Given the description of an element on the screen output the (x, y) to click on. 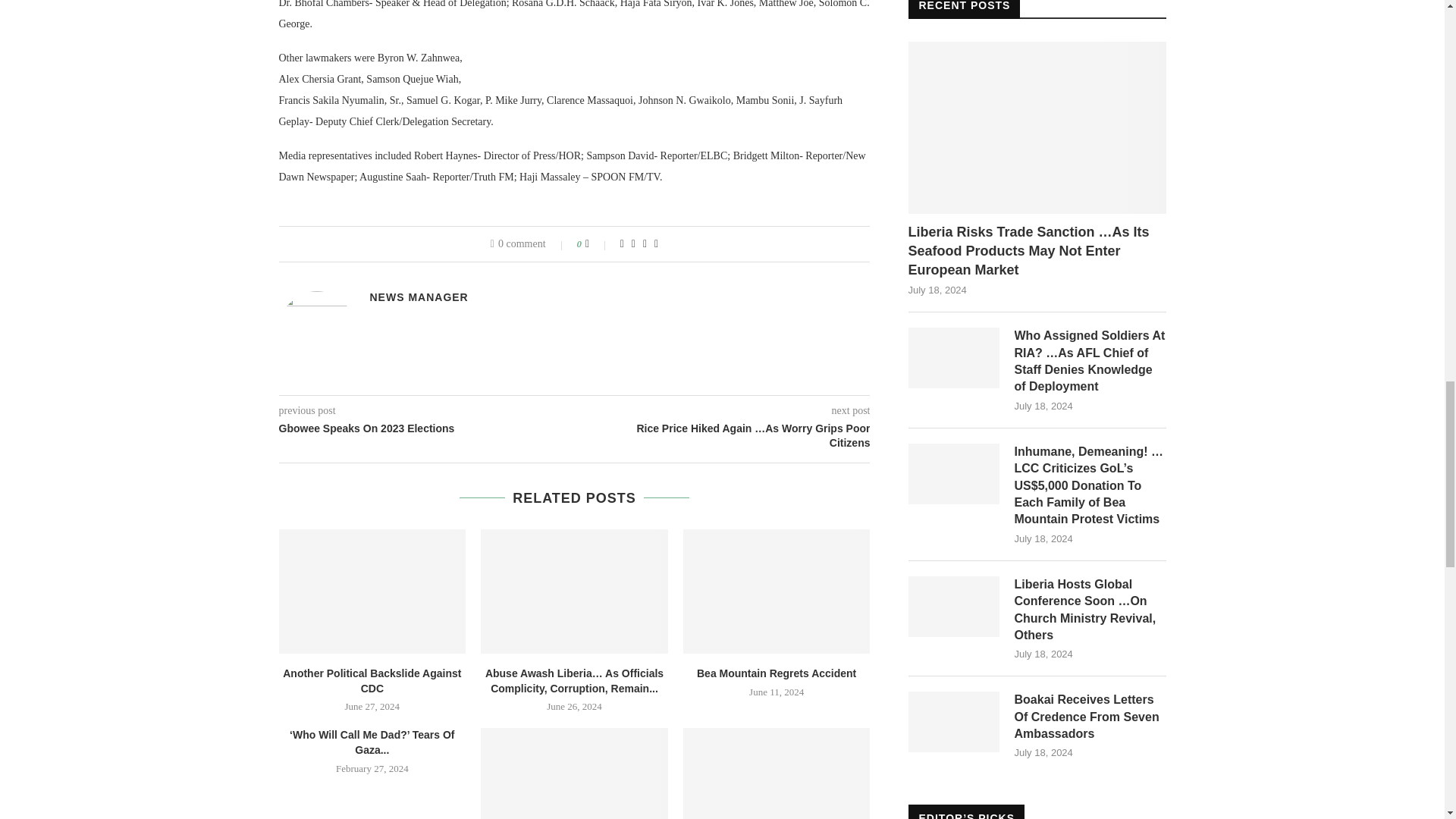
Another Political Backslide Against CDC (372, 591)
Like (597, 244)
Bea Mountain Regrets Accident (776, 591)
Posts by News Manager (418, 297)
USAID-Liberia Feeding Program Impacts Over 40,000 Students (776, 773)
